Given the description of an element on the screen output the (x, y) to click on. 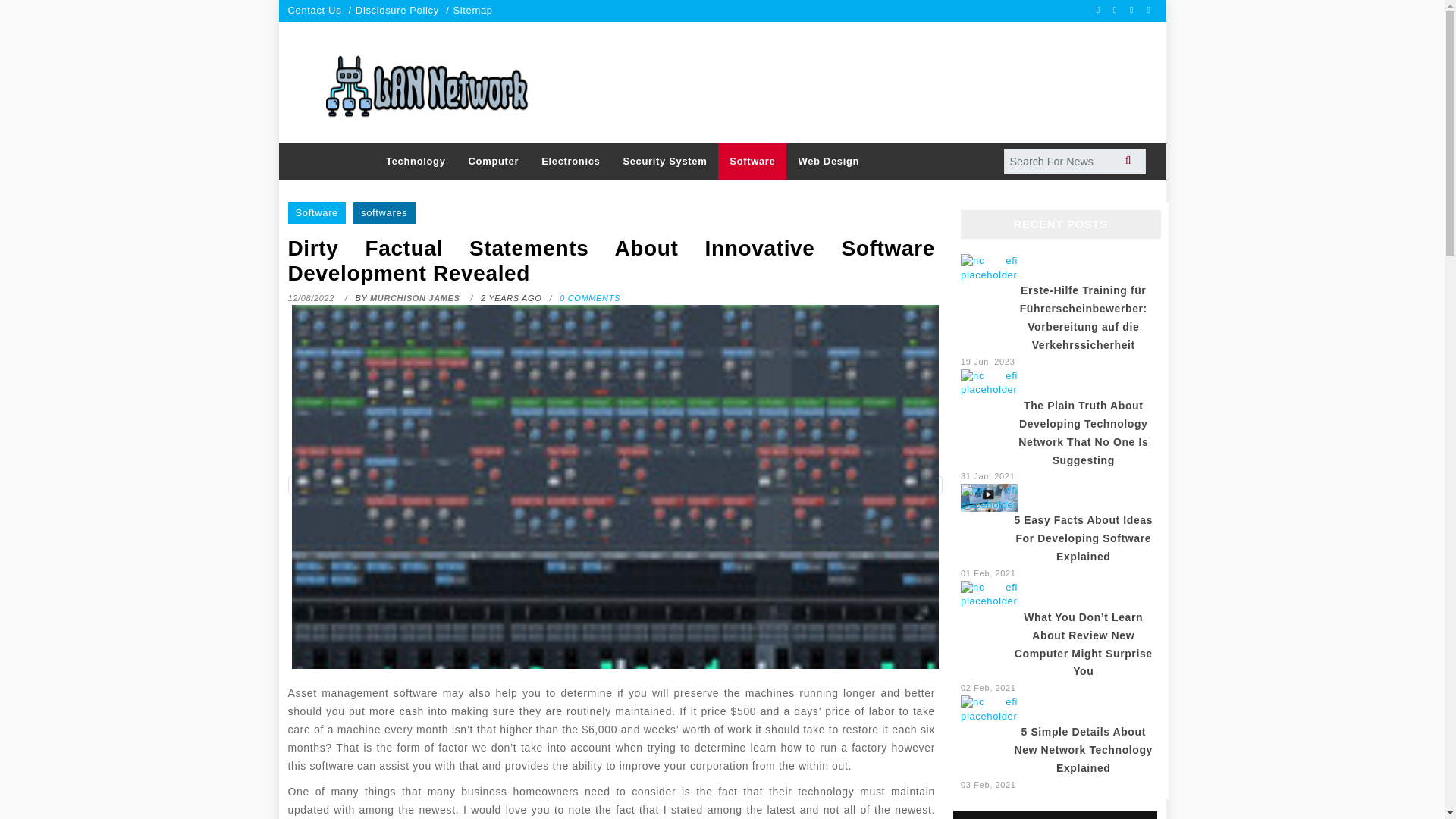
Pinterest (1149, 9)
MURCHISON JAMES (416, 297)
Electronics (570, 161)
5 Simple Details About New Network Technology Explained (988, 709)
Technology (415, 161)
5 Easy Facts About Ideas For Developing Software Explained (988, 497)
Disclosure Policy (397, 9)
Software (317, 213)
Facebook (1099, 9)
0 COMMENTS (589, 297)
Sitemap (472, 9)
Go to Top (1419, 769)
